Given the description of an element on the screen output the (x, y) to click on. 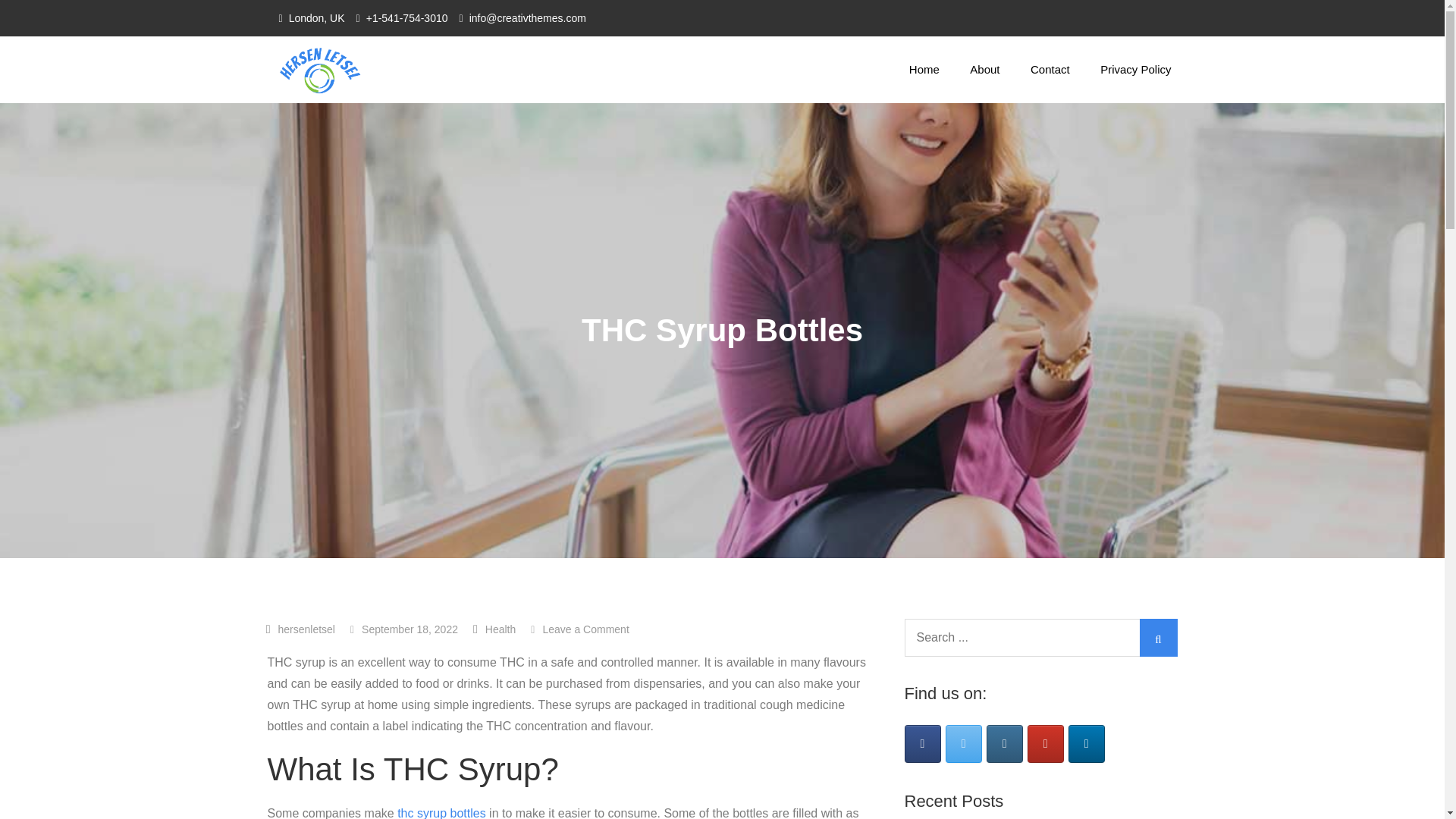
September 18, 2022 (404, 629)
thc syrup bottles (441, 812)
Hersen Letsel on Youtube (1045, 743)
Hersen Letsel (451, 84)
hersenletsel (306, 629)
Contact (1049, 69)
Hersen Letsel on Linkedin (1086, 743)
Hersen Letsel on Instagram (1005, 743)
Privacy Policy (579, 629)
Search for: (1135, 69)
Search (1040, 637)
Hersen Letsel on Facebook (1157, 637)
Health (922, 743)
Hersen Letsel on X Twitter (499, 629)
